Given the description of an element on the screen output the (x, y) to click on. 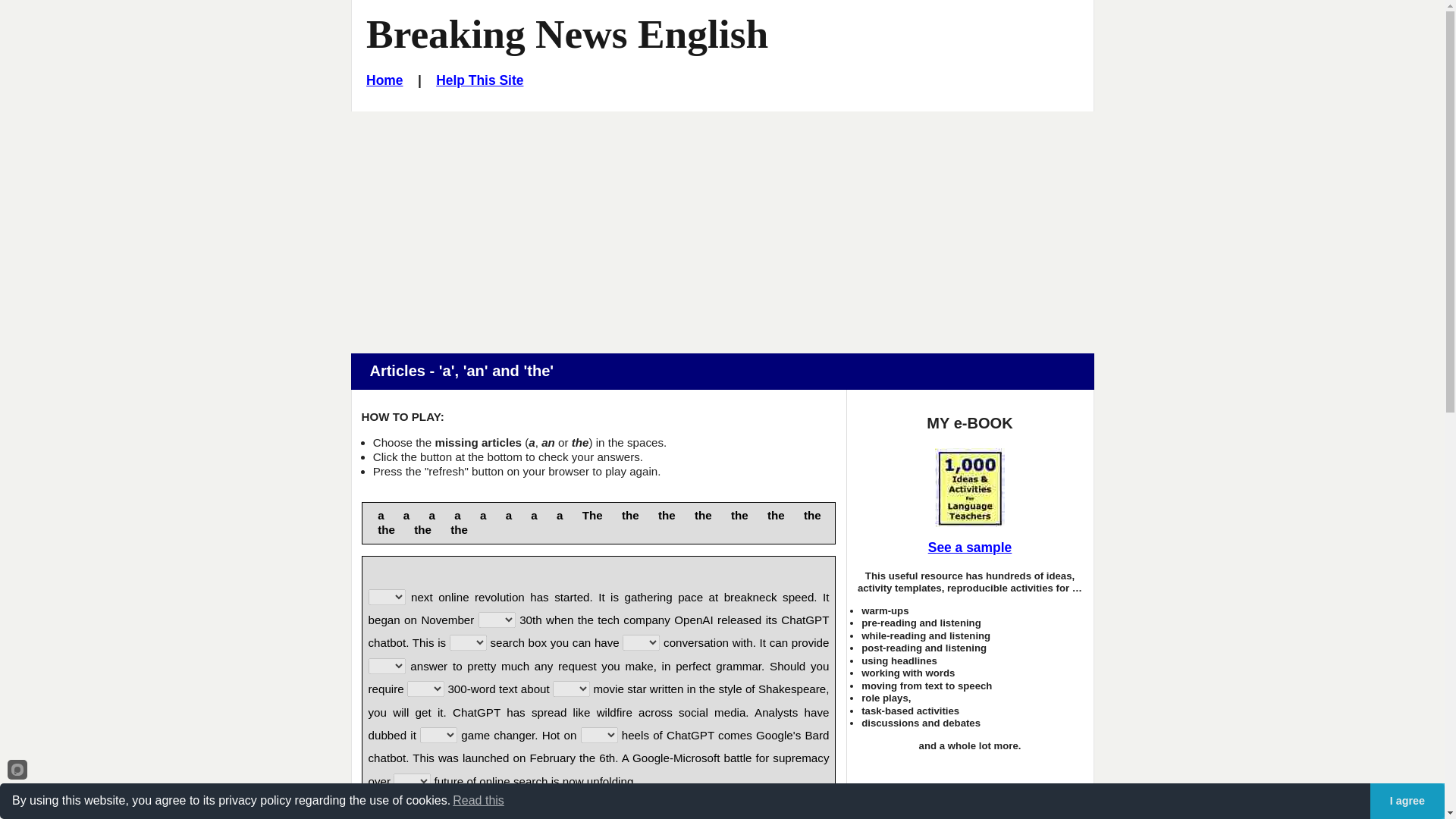
Home (384, 79)
Breaking News English (567, 33)
Help This Site (478, 79)
See a sample (969, 547)
